Given the description of an element on the screen output the (x, y) to click on. 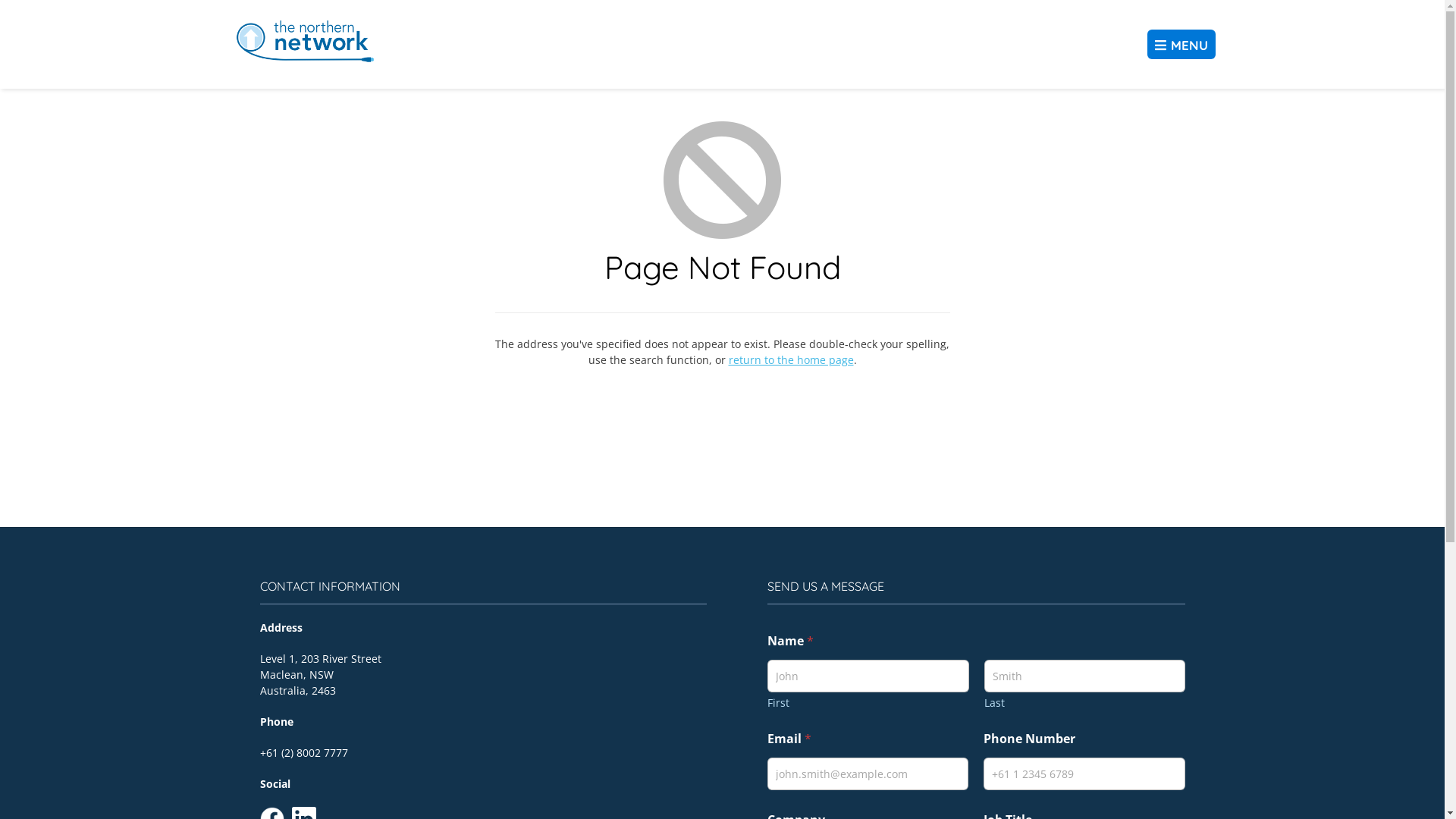
+61 (2) 8002 7777 Element type: text (303, 752)
return to the home page Element type: text (790, 359)
MENU Element type: text (1180, 44)
